Given the description of an element on the screen output the (x, y) to click on. 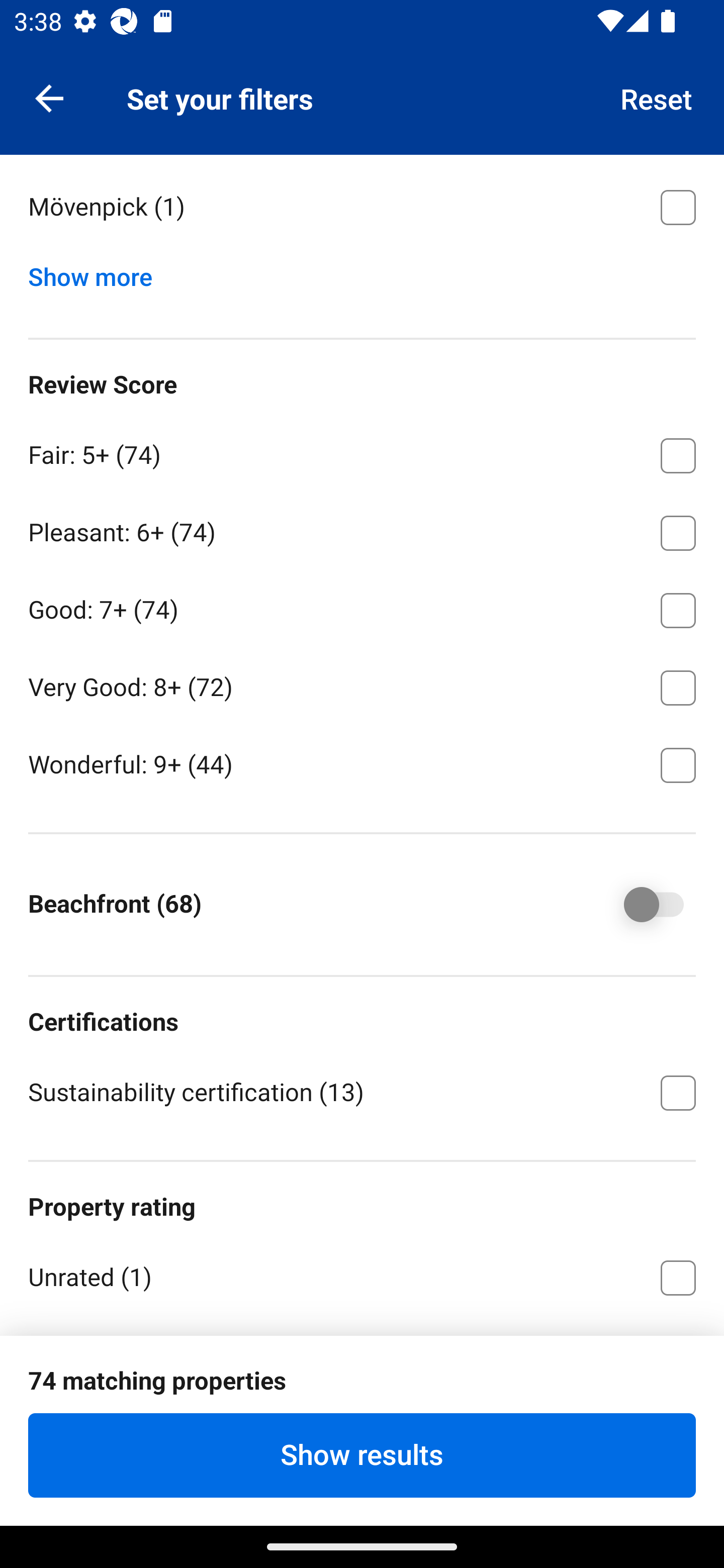
Navigate up (49, 97)
Reset (656, 97)
Mövenpick ⁦(1) (361, 206)
Show more (97, 271)
Fair: 5+ ⁦(74) (361, 451)
Pleasant: 6+ ⁦(74) (361, 528)
Good: 7+ ⁦(74) (361, 606)
Very Good: 8+ ⁦(72) (361, 684)
Wonderful: 9+ ⁦(44) (361, 763)
Beachfront ⁦(68) (639, 904)
Sustainability certification ⁦(13) (361, 1091)
Unrated ⁦(1) (361, 1274)
Show results (361, 1454)
